Given the description of an element on the screen output the (x, y) to click on. 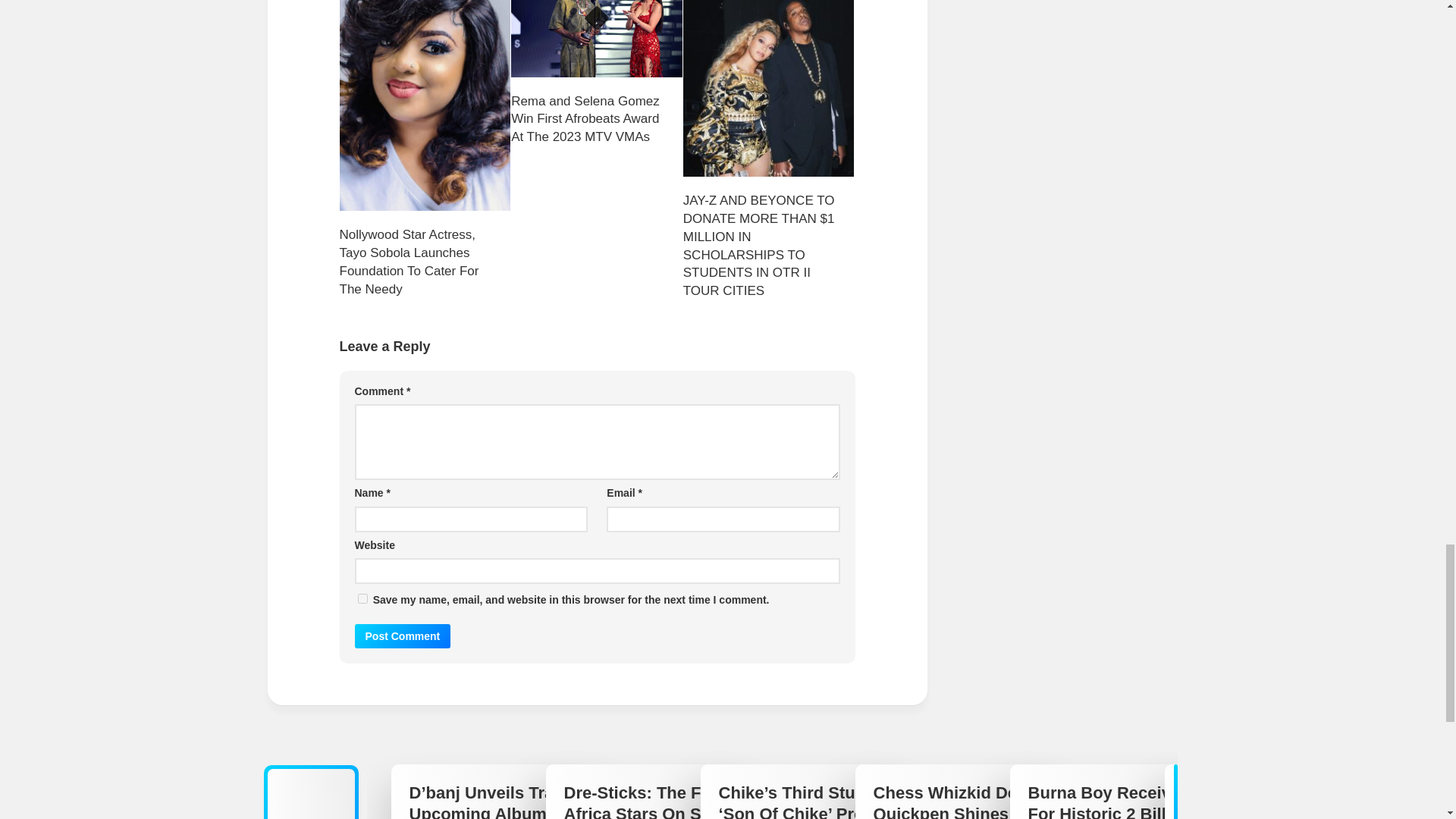
Post Comment (403, 636)
Post Comment (403, 636)
yes (363, 598)
